Given the description of an element on the screen output the (x, y) to click on. 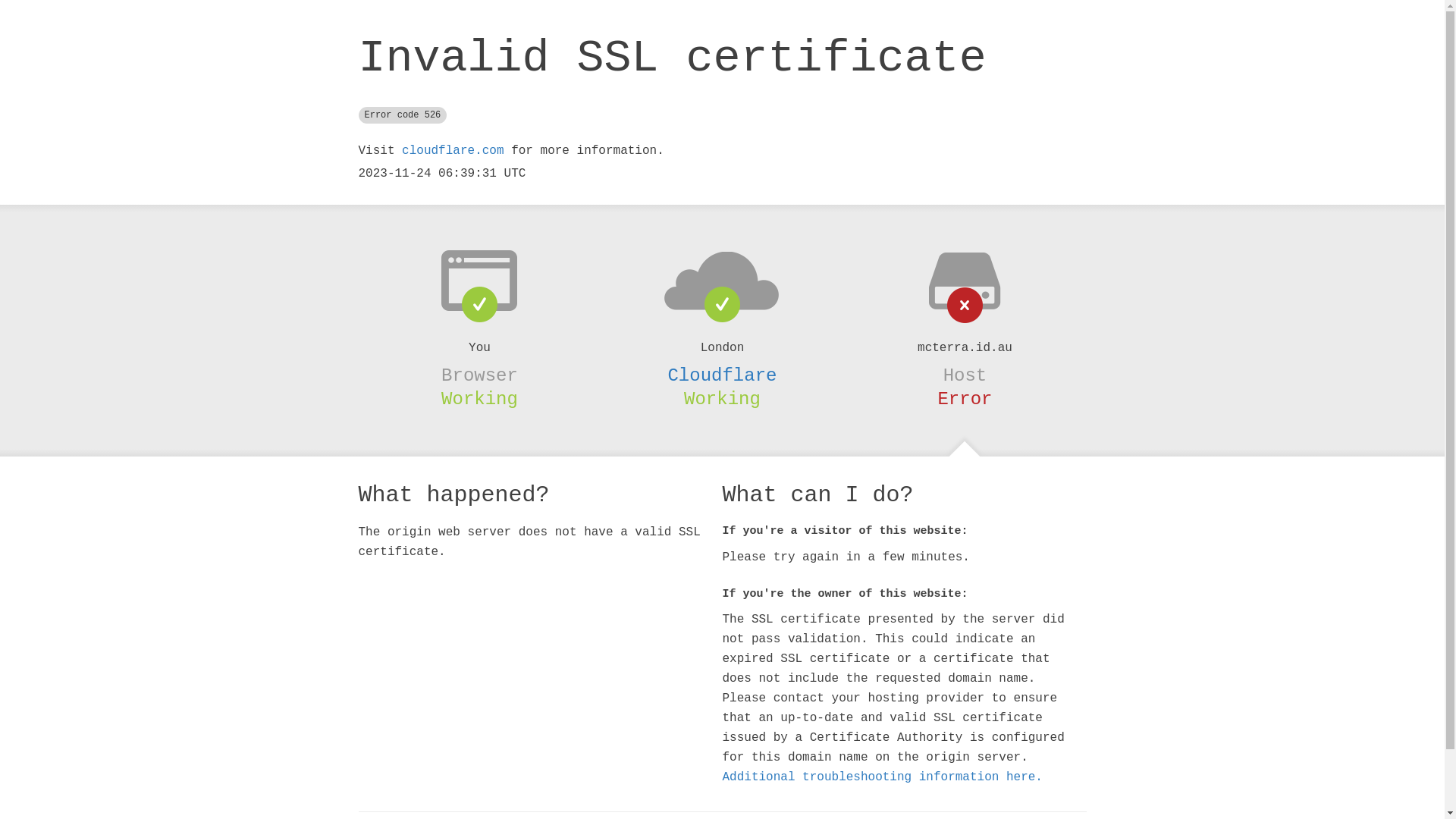
Cloudflare Element type: text (721, 375)
Additional troubleshooting information here. Element type: text (881, 777)
cloudflare.com Element type: text (452, 150)
